Given the description of an element on the screen output the (x, y) to click on. 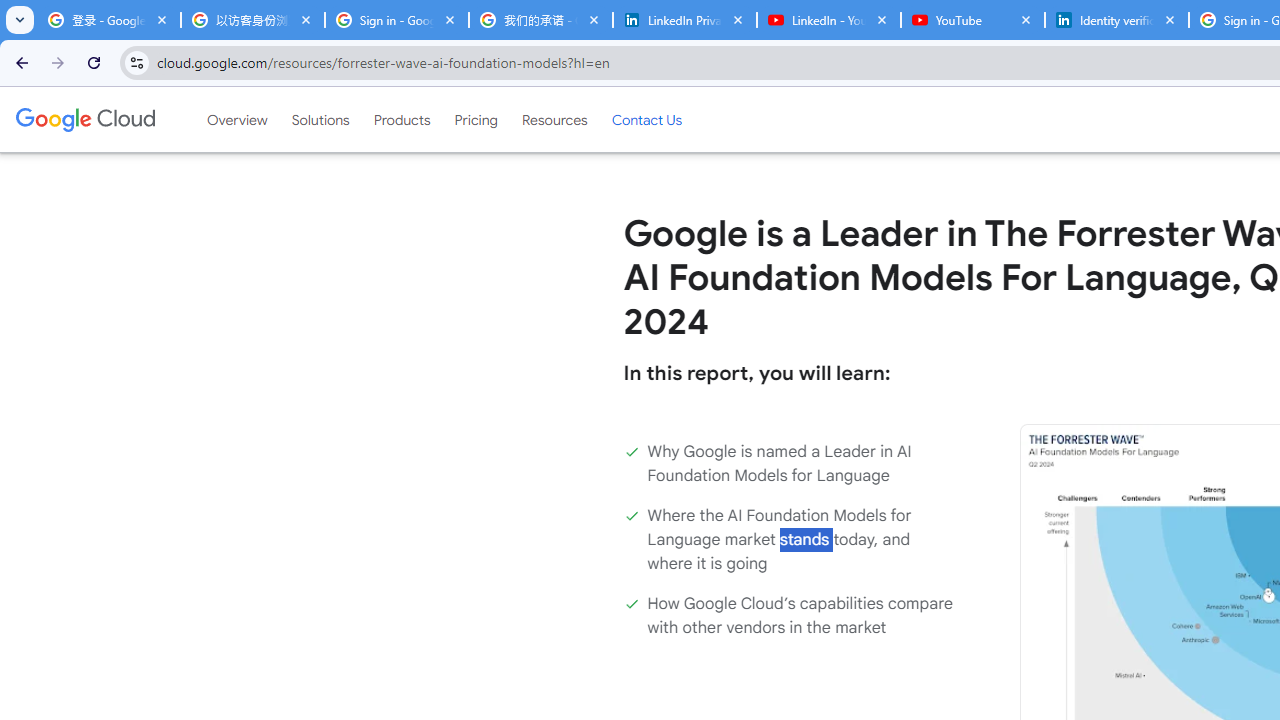
Sign in - Google Accounts (396, 20)
Pricing (476, 119)
LinkedIn Privacy Policy (684, 20)
Resources (553, 119)
YouTube (972, 20)
LinkedIn - YouTube (828, 20)
